Given the description of an element on the screen output the (x, y) to click on. 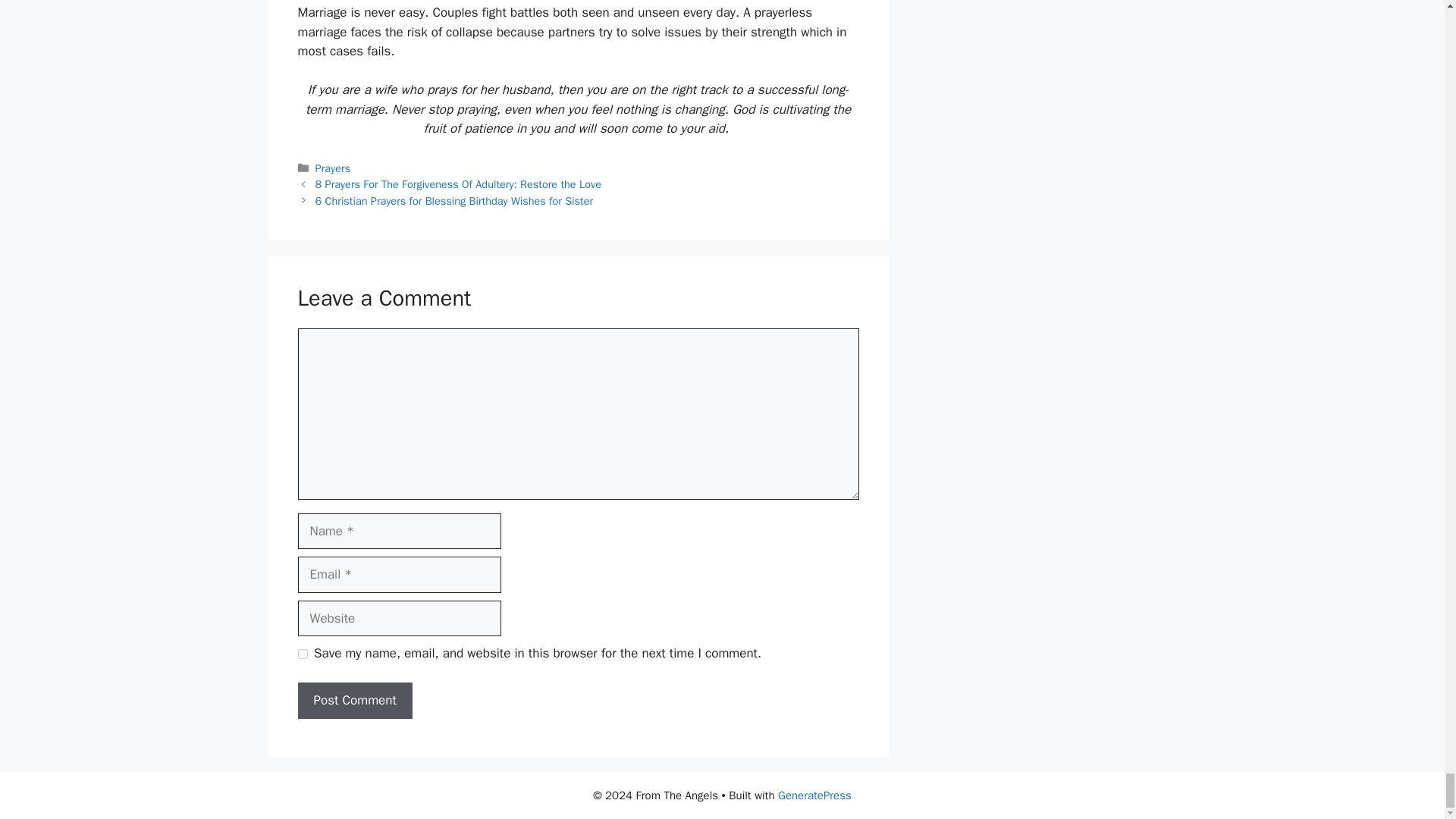
Post Comment (354, 700)
GeneratePress (814, 795)
Post Comment (354, 700)
8 Prayers For The Forgiveness Of Adultery: Restore the Love (458, 183)
yes (302, 654)
Prayers (332, 168)
Previous (458, 183)
Next (453, 201)
6 Christian Prayers for Blessing Birthday Wishes for Sister (453, 201)
